Given the description of an element on the screen output the (x, y) to click on. 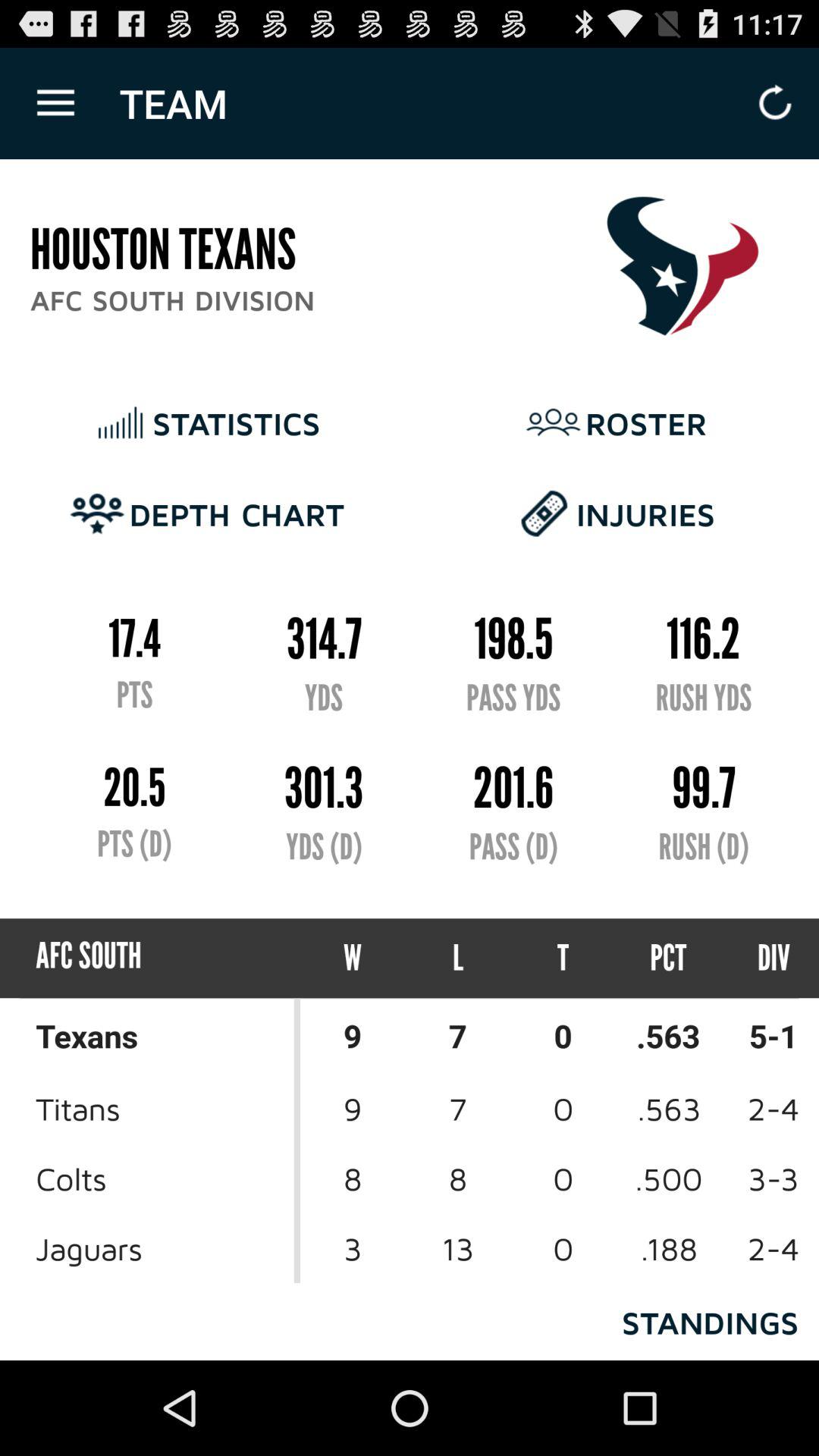
choose icon below the pass (d) (562, 958)
